Given the description of an element on the screen output the (x, y) to click on. 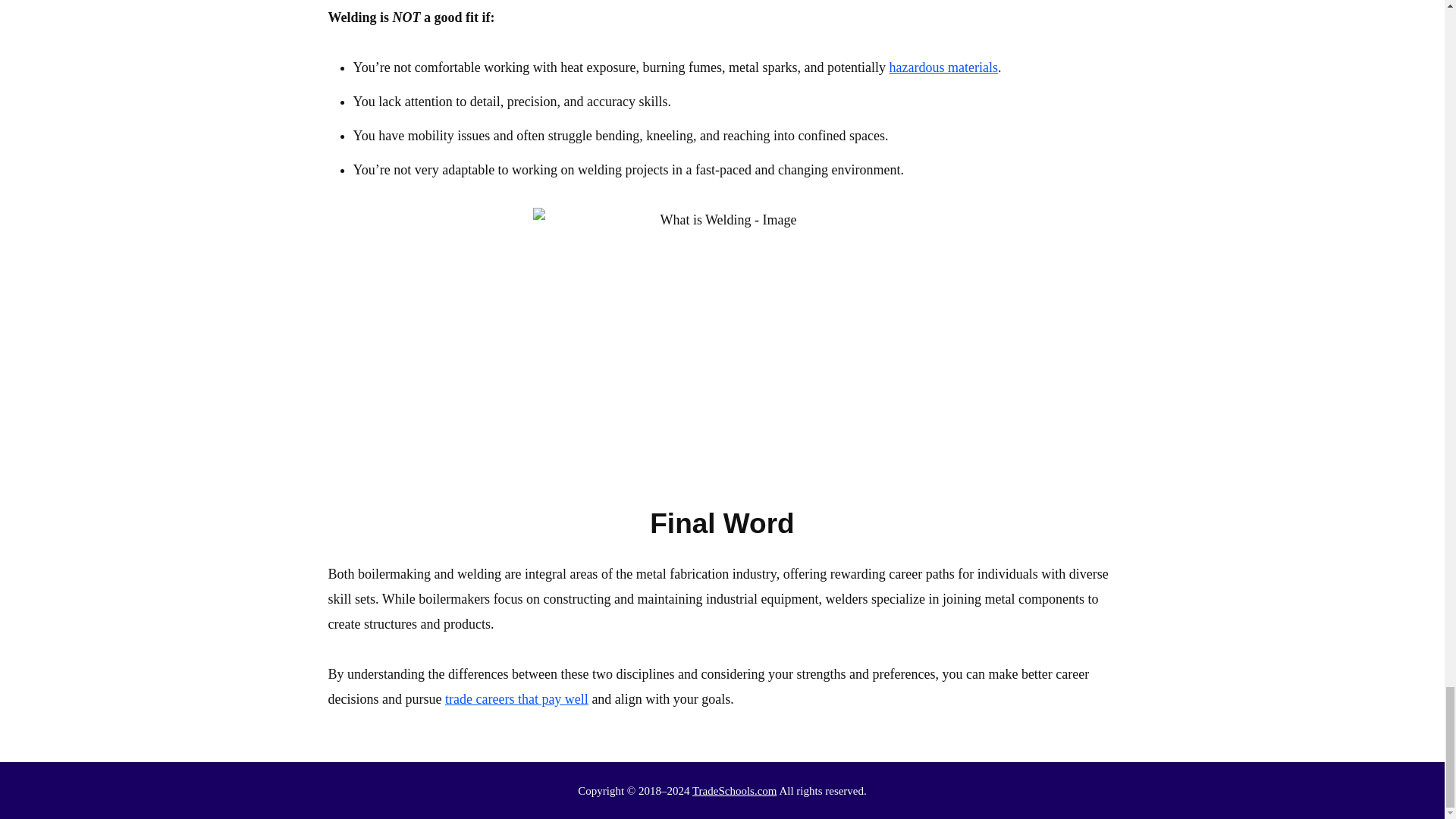
trade careers that pay well (516, 698)
TradeSchools.com (735, 790)
hazardous materials (943, 67)
